Given the description of an element on the screen output the (x, y) to click on. 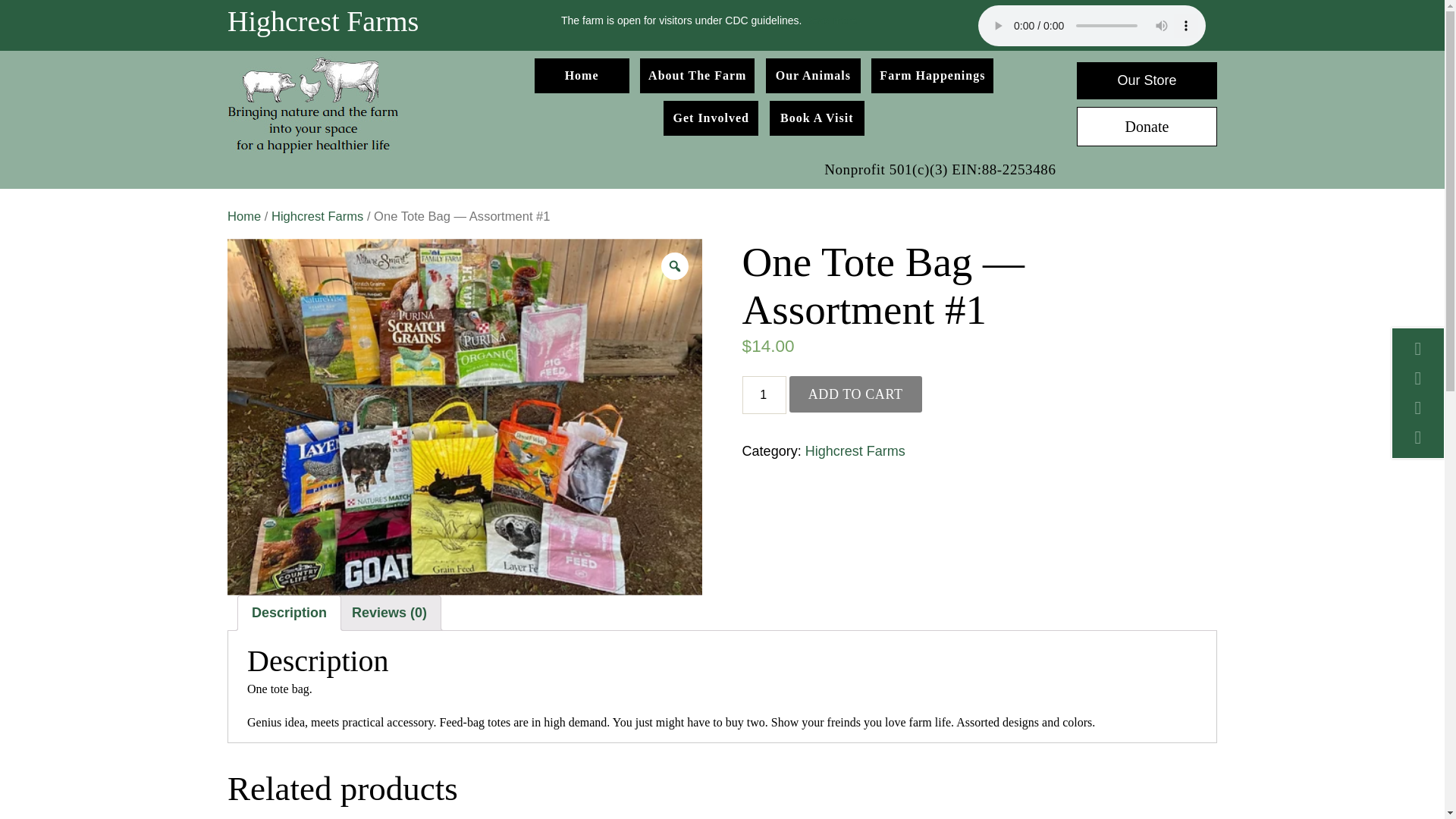
Our Store (1147, 80)
Book A Visit (817, 117)
Qty (764, 394)
Our Animals (812, 75)
Donate (1147, 126)
Home (243, 216)
Description (288, 612)
1 (764, 394)
Farm Happenings (931, 75)
Highcrest Farms (316, 216)
Get Involved (710, 117)
Highcrest Farms (855, 450)
Read more (831, 20)
About The Farm (697, 75)
